Given the description of an element on the screen output the (x, y) to click on. 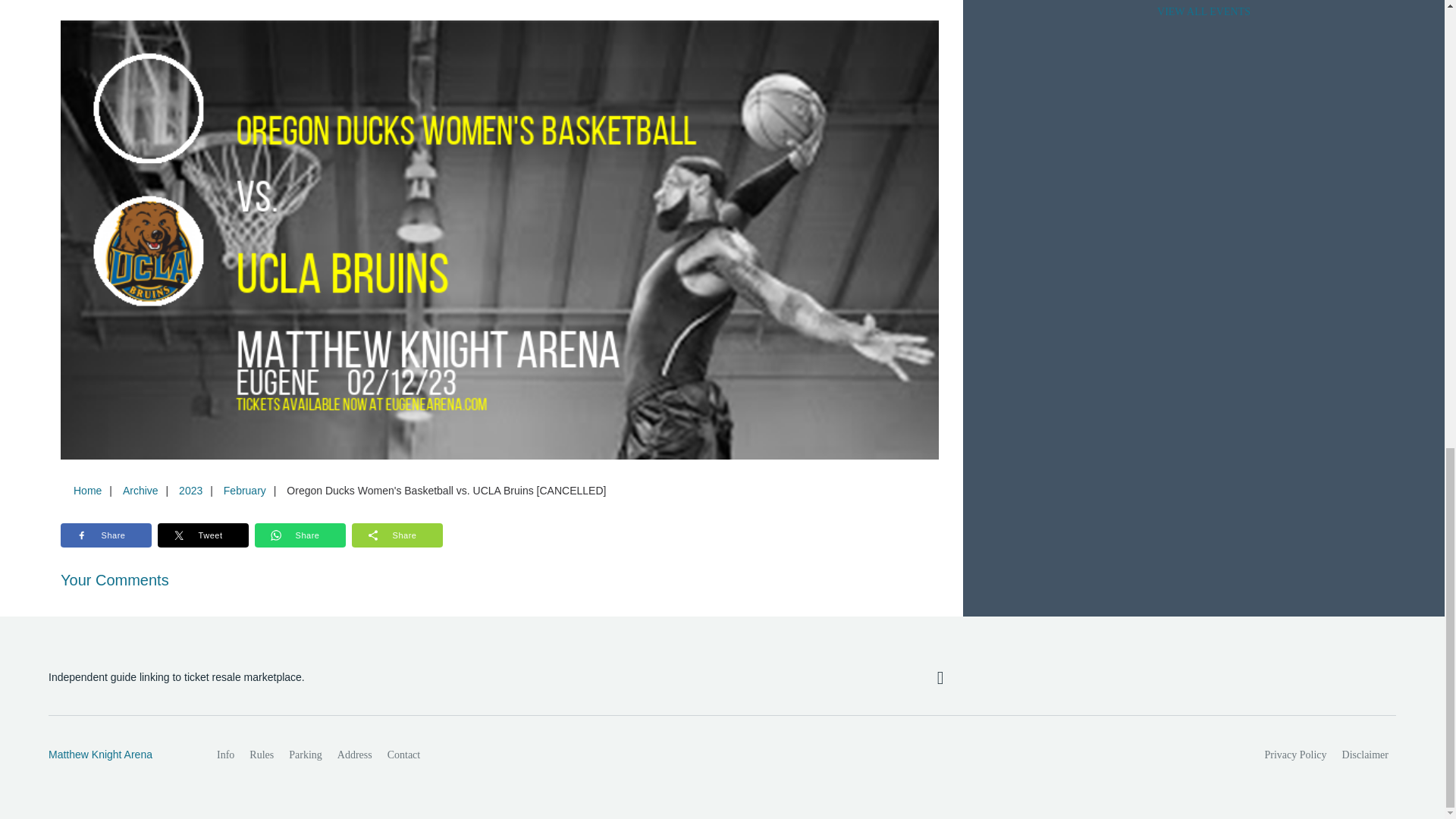
Matthew Knight Arena (116, 754)
Privacy Policy (1296, 755)
Disclaimer (1365, 755)
2023 (190, 490)
Contact (404, 755)
Archive (140, 490)
Address (355, 755)
Parking (305, 755)
February (244, 490)
Home (87, 490)
VIEW ALL EVENTS (1203, 13)
Rules (261, 755)
Info (225, 755)
